Given the description of an element on the screen output the (x, y) to click on. 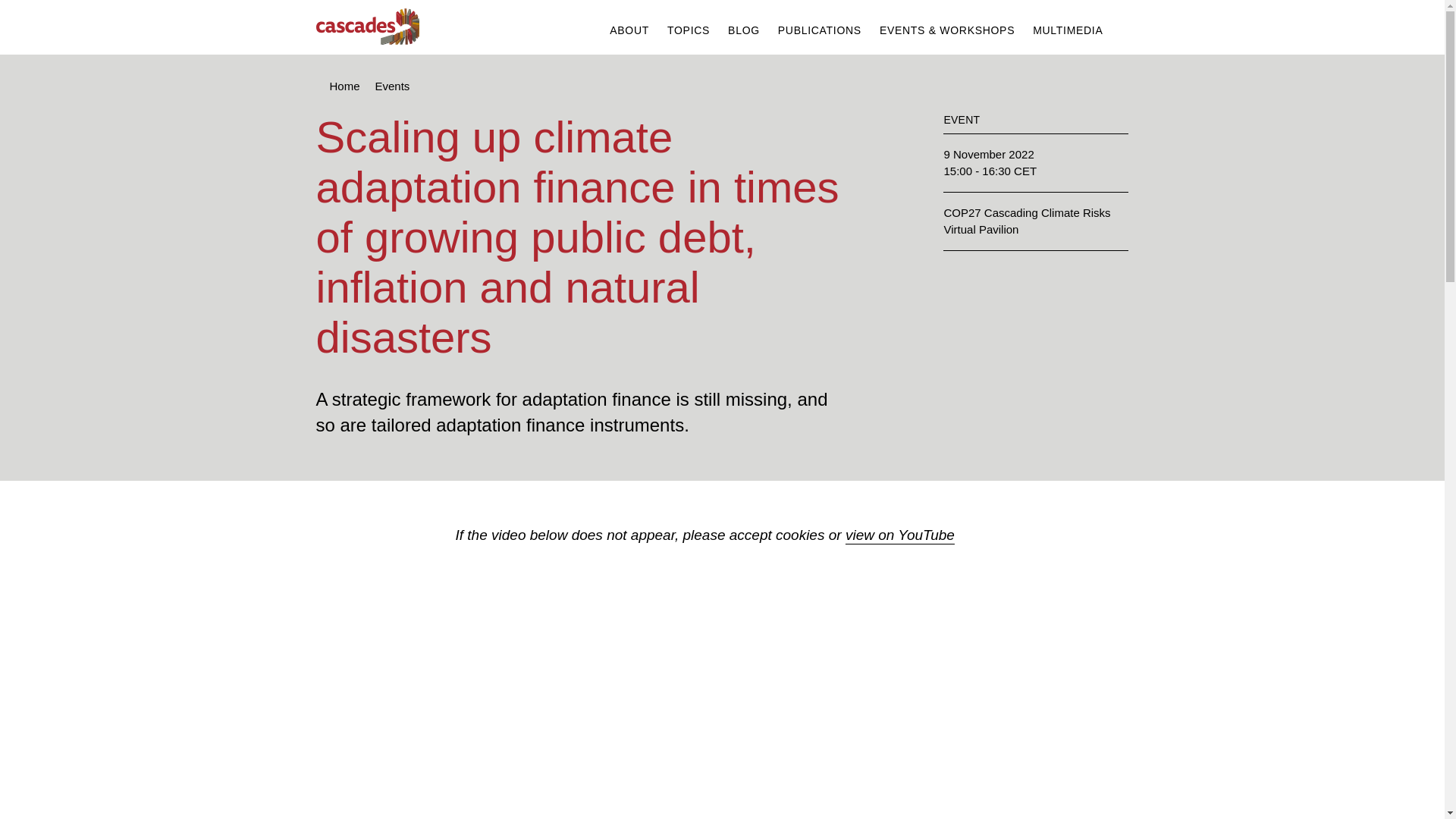
TOPICS (688, 30)
Home (344, 86)
Go to homepage (367, 27)
MULTIMEDIA (1067, 30)
ABOUT (629, 30)
BLOG (744, 30)
PUBLICATIONS (819, 30)
view on YouTube (900, 534)
Events (392, 86)
